Given the description of an element on the screen output the (x, y) to click on. 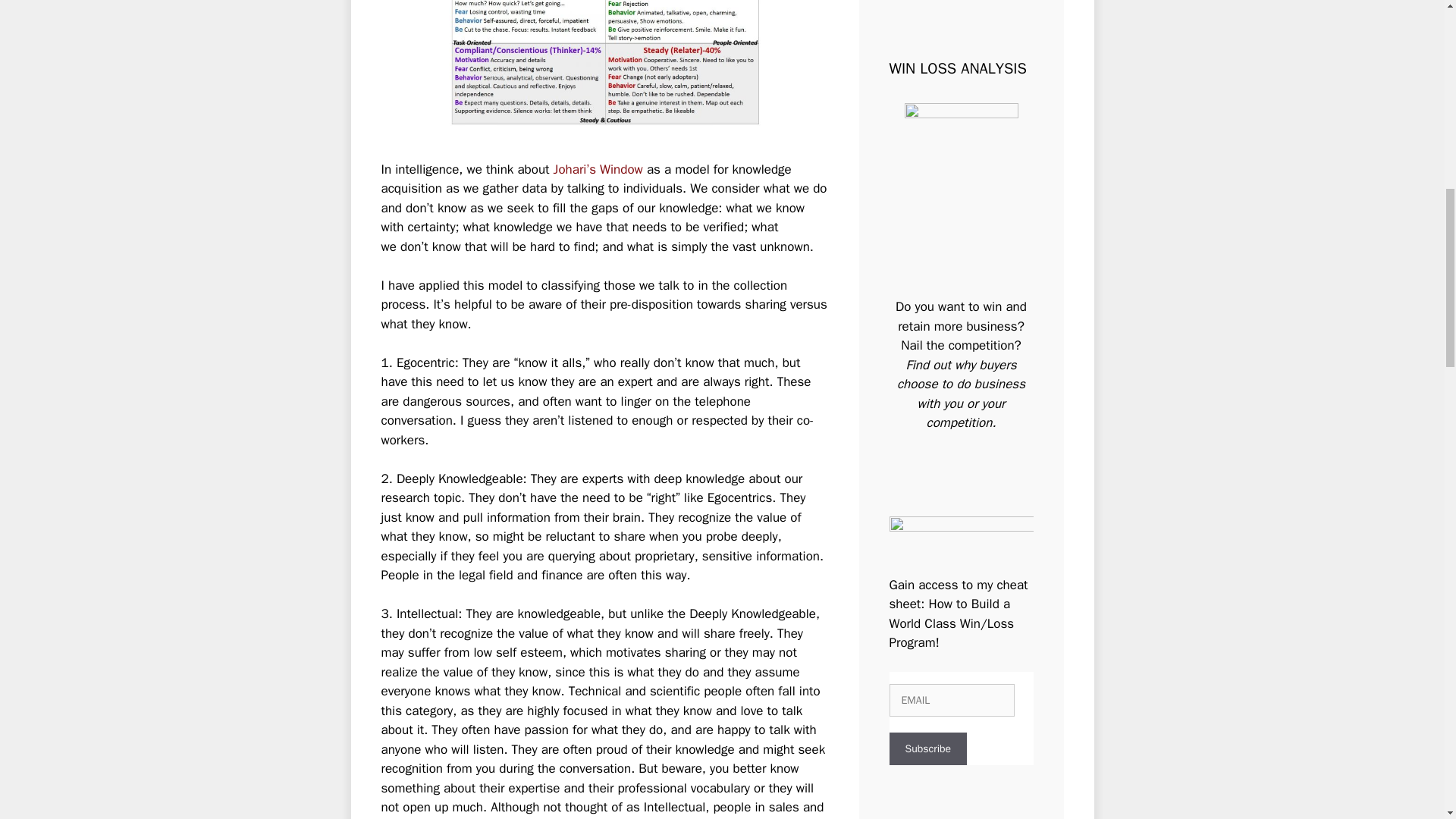
Johari's Window (599, 169)
Subscribe (927, 748)
